Given the description of an element on the screen output the (x, y) to click on. 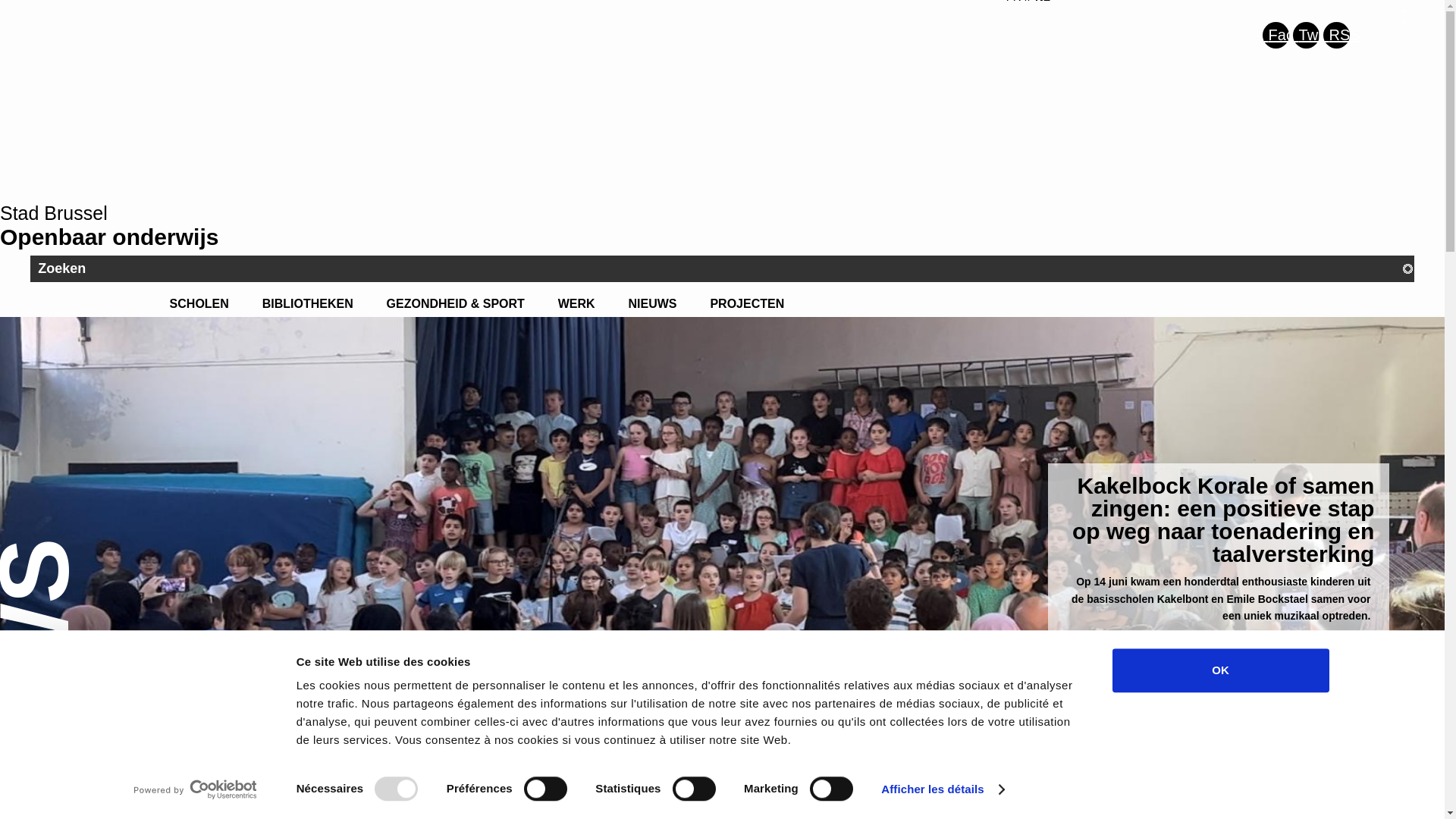
Nieuws Element type: text (76, 701)
OK Element type: text (1219, 670)
Geef de woorden op waarnaar u wilt zoeken. Element type: hover (721, 268)
4 Element type: text (1376, 653)
Home Element type: text (25, 701)
1 Element type: text (1331, 653)
BIBLIOTHEKEN Element type: text (307, 303)
WERK Element type: text (576, 303)
SCHOLEN Element type: text (199, 303)
NIEUWS Element type: text (652, 303)
 Twitter Element type: text (1305, 34)
Previous Element type: text (6, 679)
Overslaan en naar de inhoud gaan Element type: text (0, 0)
3 Element type: text (1361, 653)
5 Element type: text (1391, 653)
2 Element type: text (1346, 653)
GEZONDHEID & SPORT Element type: text (455, 303)
PROJECTEN Element type: text (746, 303)
 RSS Element type: text (1336, 34)
 Facebook Element type: text (1275, 34)
